Given the description of an element on the screen output the (x, y) to click on. 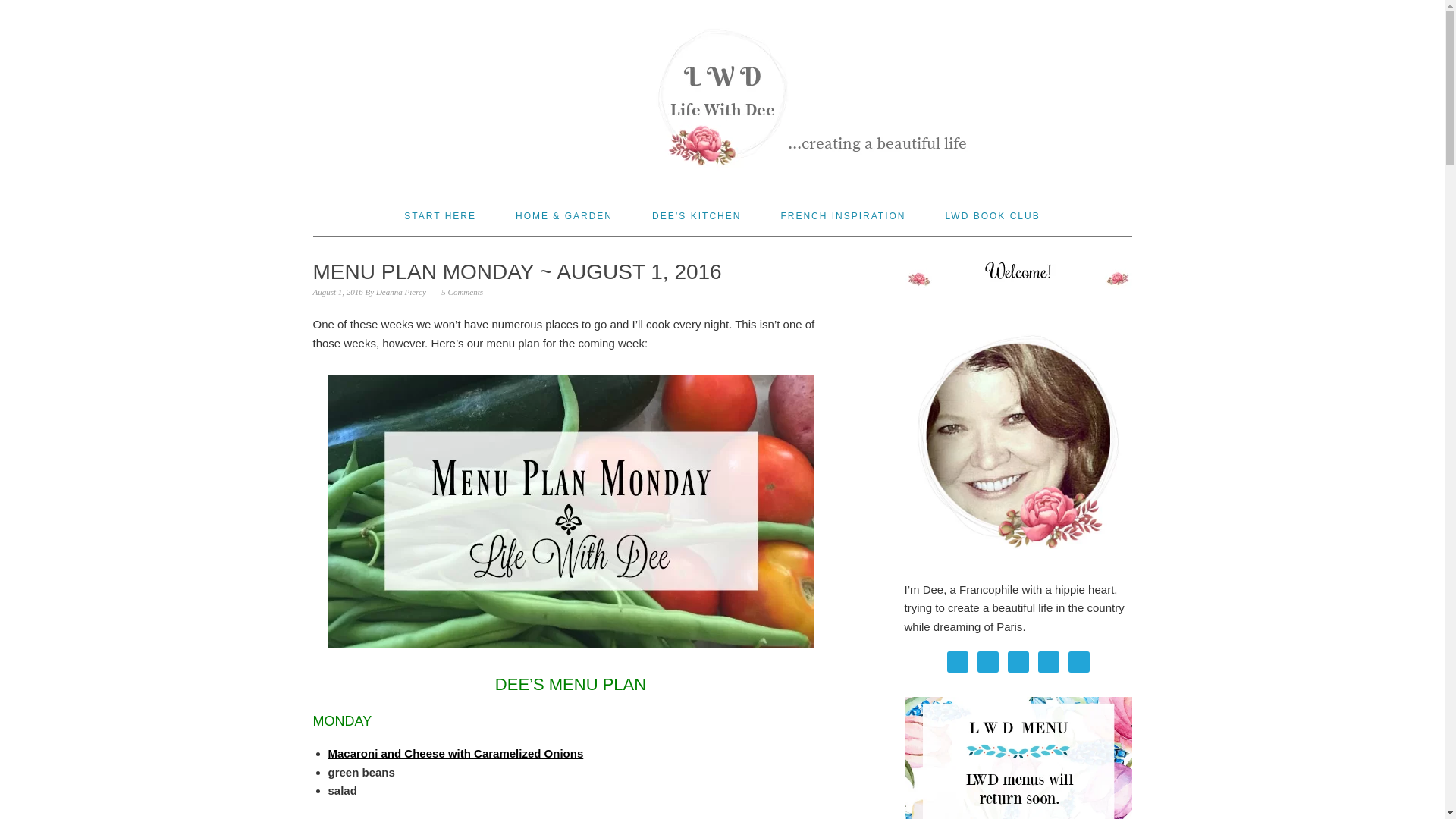
FRENCH INSPIRATION (842, 215)
Deanna Piercy (400, 291)
START HERE (440, 215)
Macaroni and Cheese with Caramelized Onions (455, 753)
LWD BOOK CLUB (992, 215)
5 Comments (462, 291)
LIFE WITH DEE (722, 91)
